Given the description of an element on the screen output the (x, y) to click on. 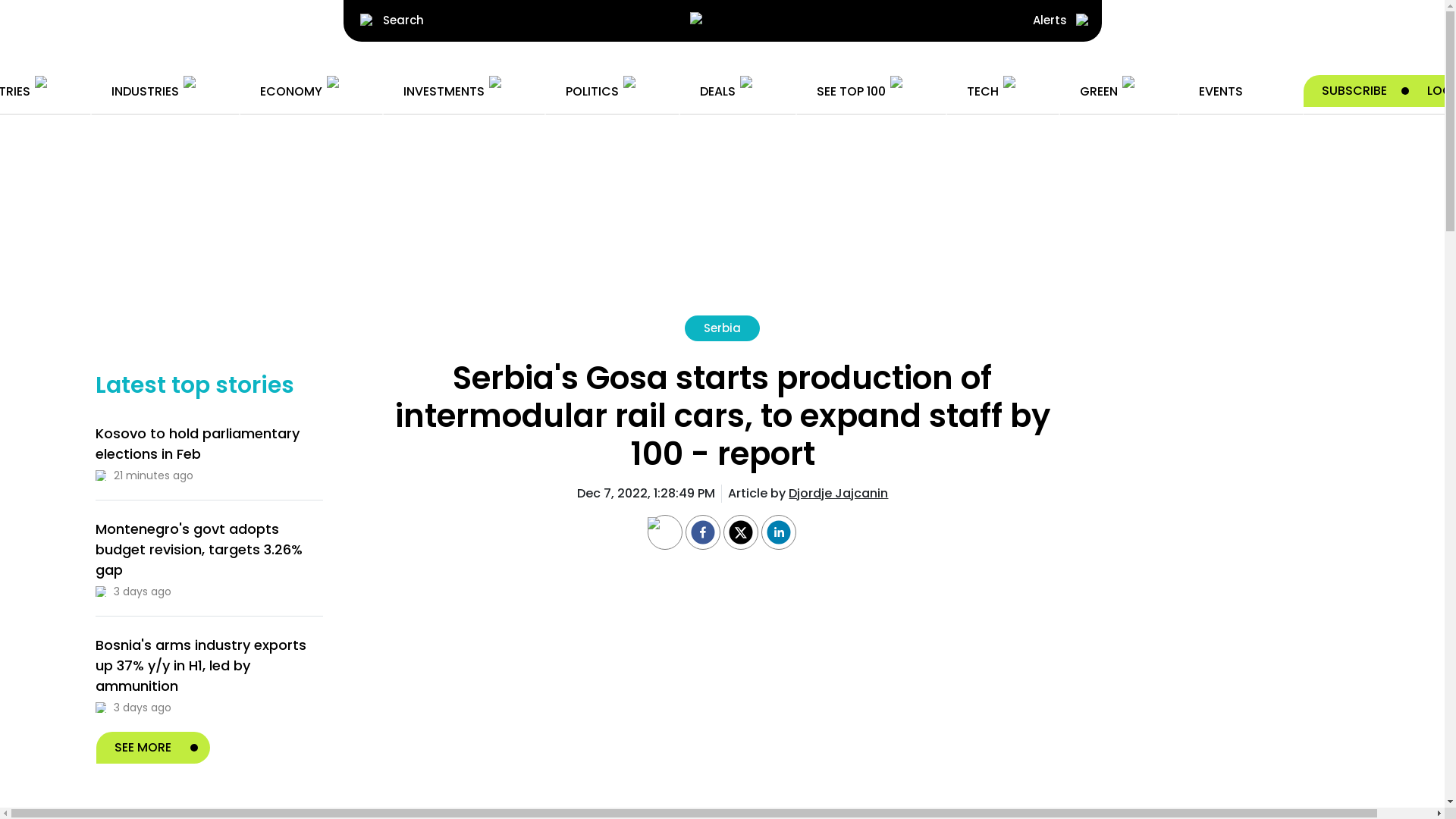
INDUSTRIES (164, 91)
ECONOMY (310, 91)
COUNTRIES (34, 91)
